Given the description of an element on the screen output the (x, y) to click on. 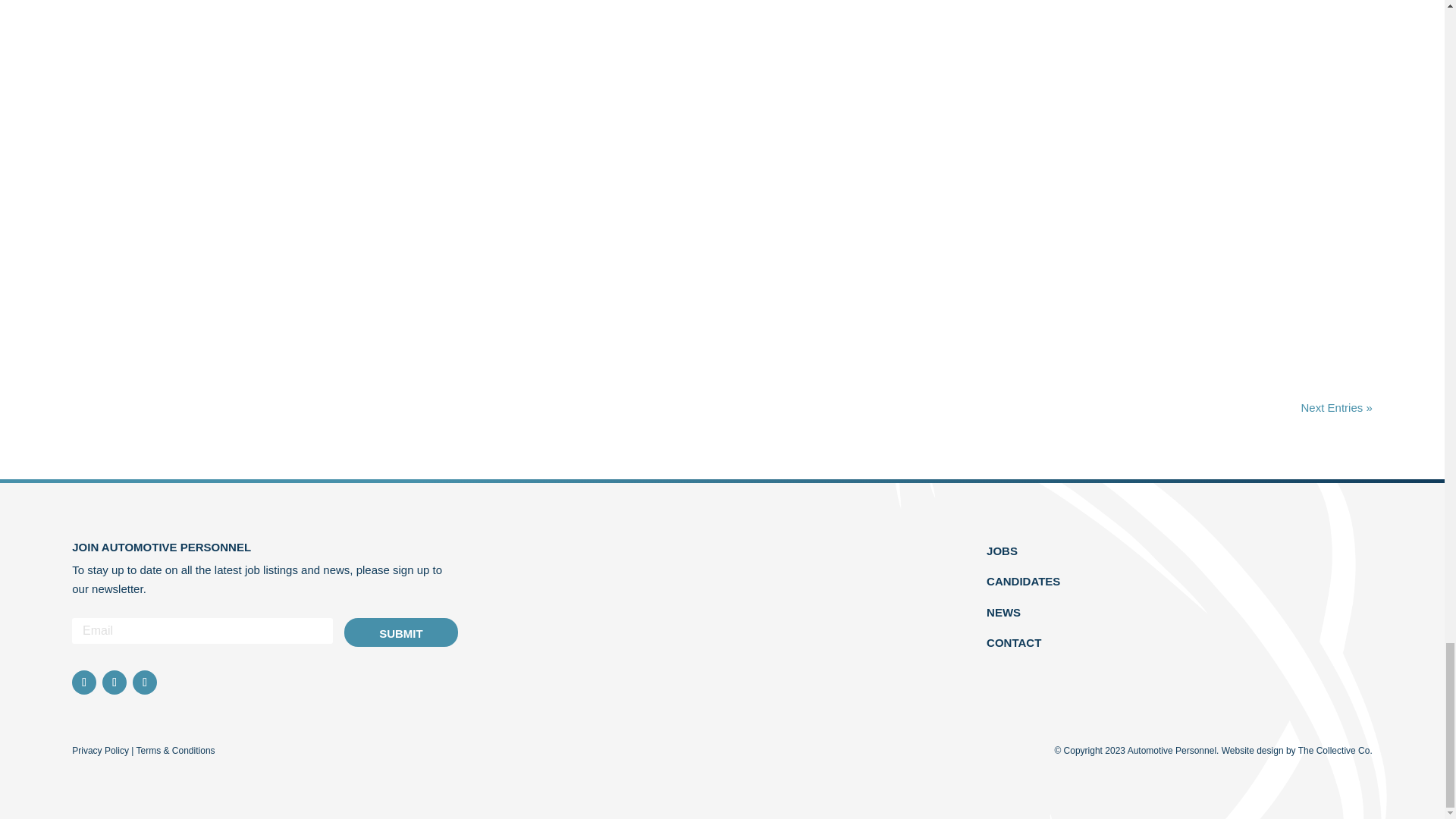
The Collective Co. (1335, 750)
Follow on Facebook (113, 682)
Privacy Policy (100, 750)
NEWS (1003, 612)
JOBS (1002, 550)
Follow on LinkedIn (144, 682)
CANDIDATES (1023, 581)
SUBMIT (400, 632)
Follow on Instagram (83, 682)
CONTACT (1014, 642)
